Given the description of an element on the screen output the (x, y) to click on. 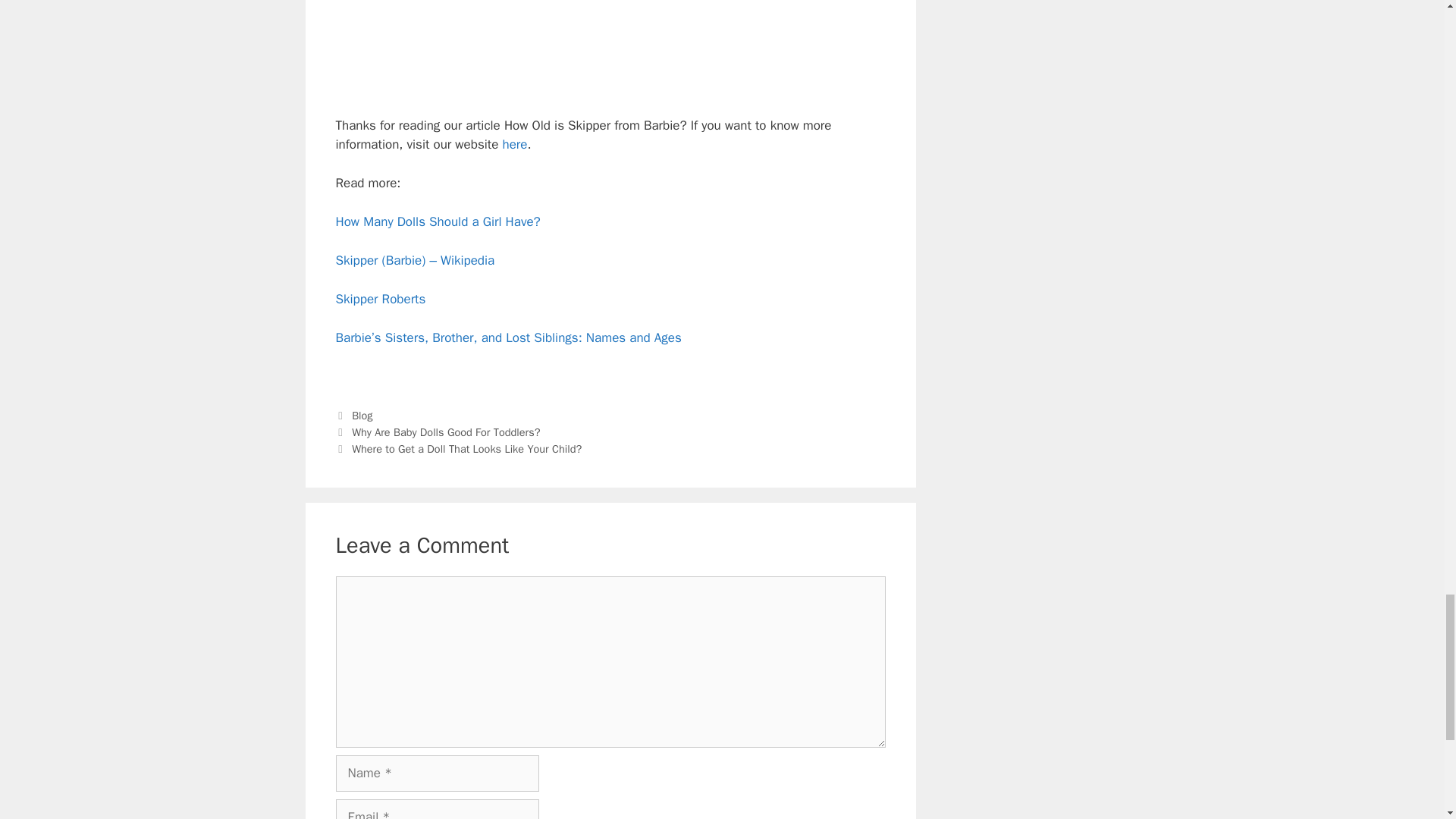
here (514, 144)
Skipper Roberts (379, 299)
How Many Dolls Should a Girl Have? (437, 221)
Skipper: The History Of Barbie's First Sister! (609, 45)
Blog (362, 415)
Where to Get a Doll That Looks Like Your Child? (466, 448)
Why Are Baby Dolls Good For Toddlers?  (447, 431)
